Given the description of an element on the screen output the (x, y) to click on. 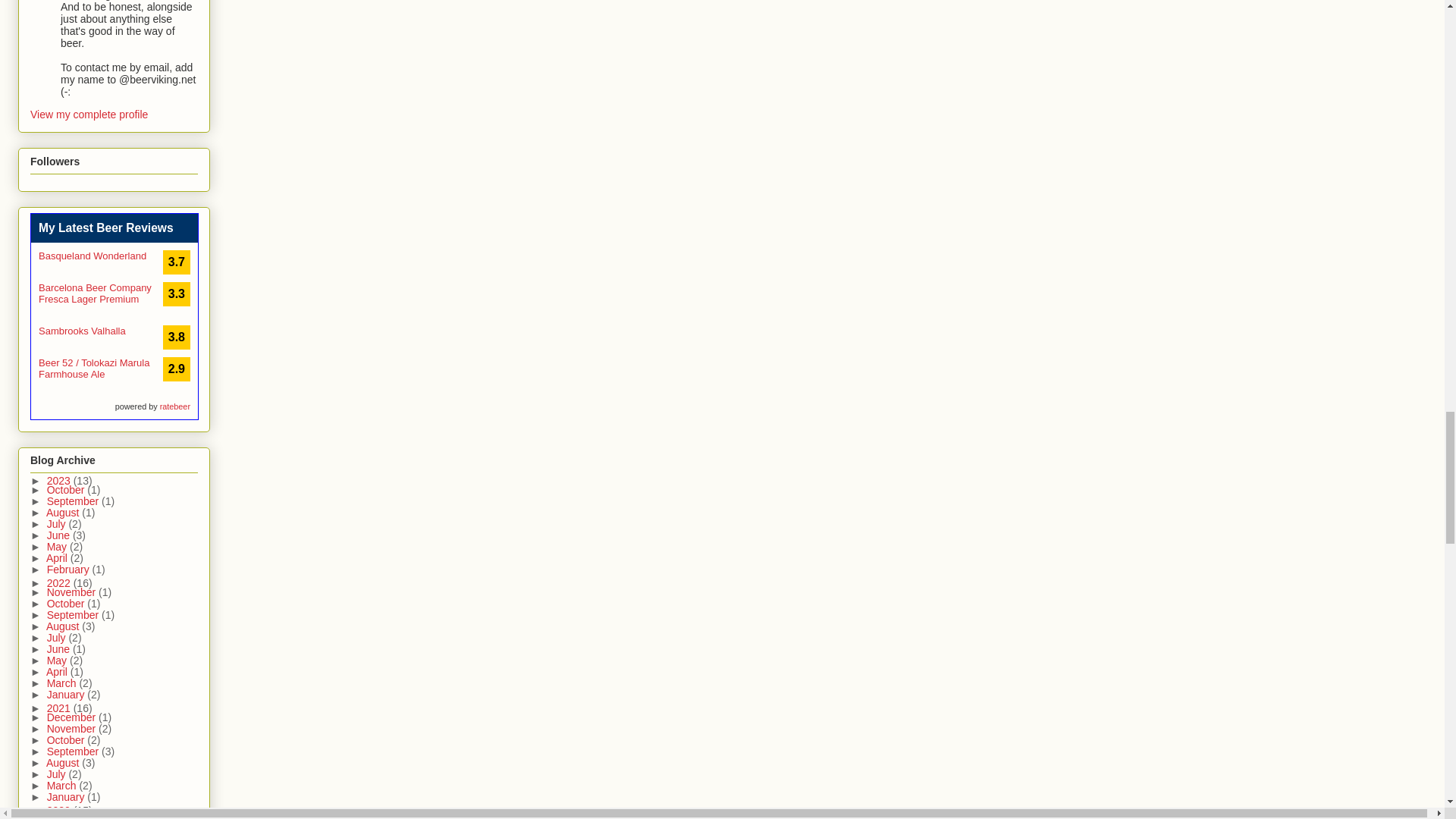
Barcelona Beer Company Fresca Lager Premium (95, 292)
View my complete profile (89, 114)
September (73, 500)
Sambrooks Valhalla (82, 330)
October (66, 490)
August (63, 512)
2023 (60, 480)
Basqueland Wonderland (93, 255)
ratebeer (175, 406)
